Given the description of an element on the screen output the (x, y) to click on. 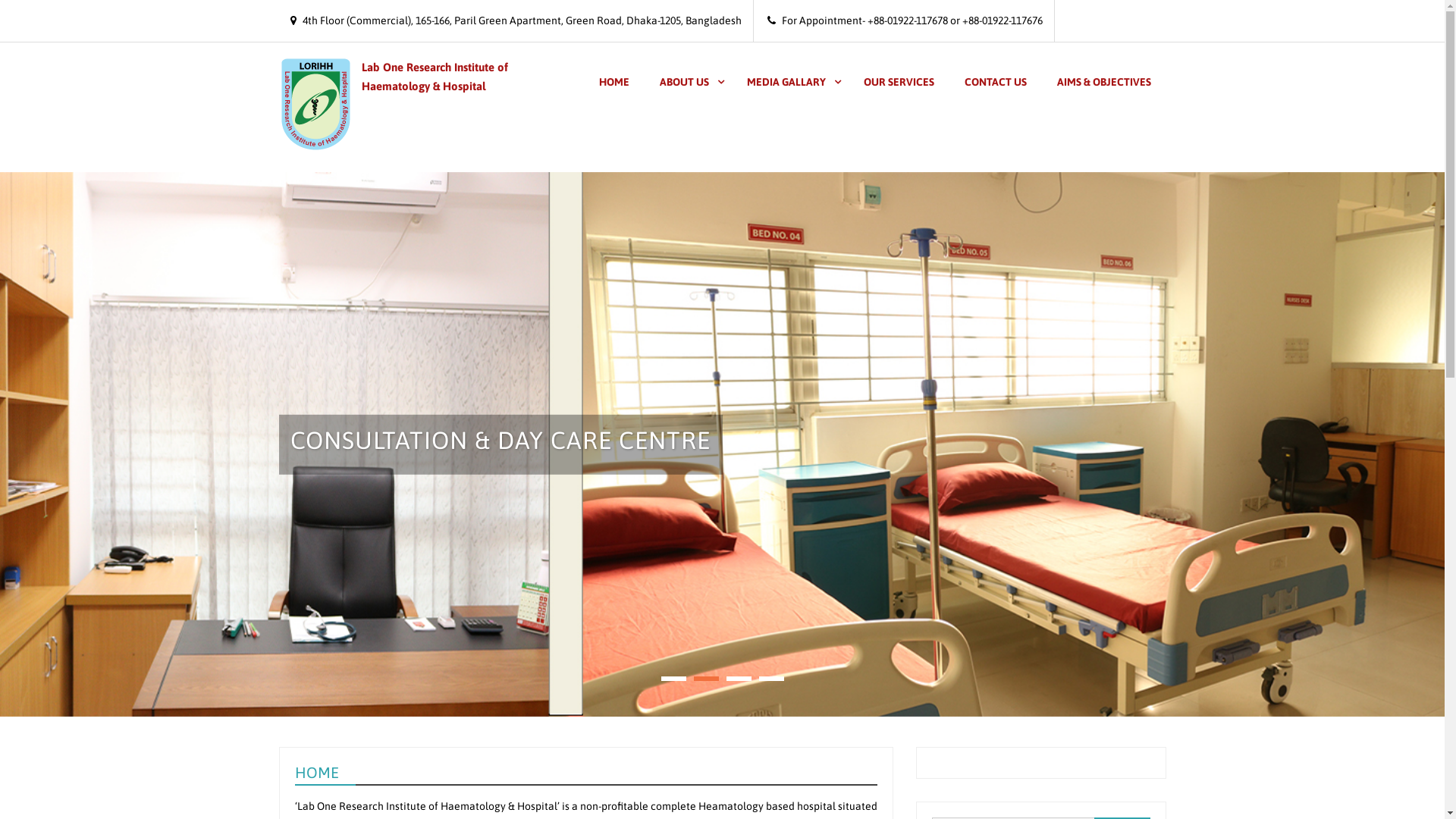
ABOUT US Element type: text (687, 81)
MEDIA GALLARY Element type: text (789, 81)
HOME Element type: text (613, 81)
AIMS & OBJECTIVES Element type: text (1103, 81)
CONTACT US Element type: text (995, 81)
OUR SERVICES Element type: text (897, 81)
